Given the description of an element on the screen output the (x, y) to click on. 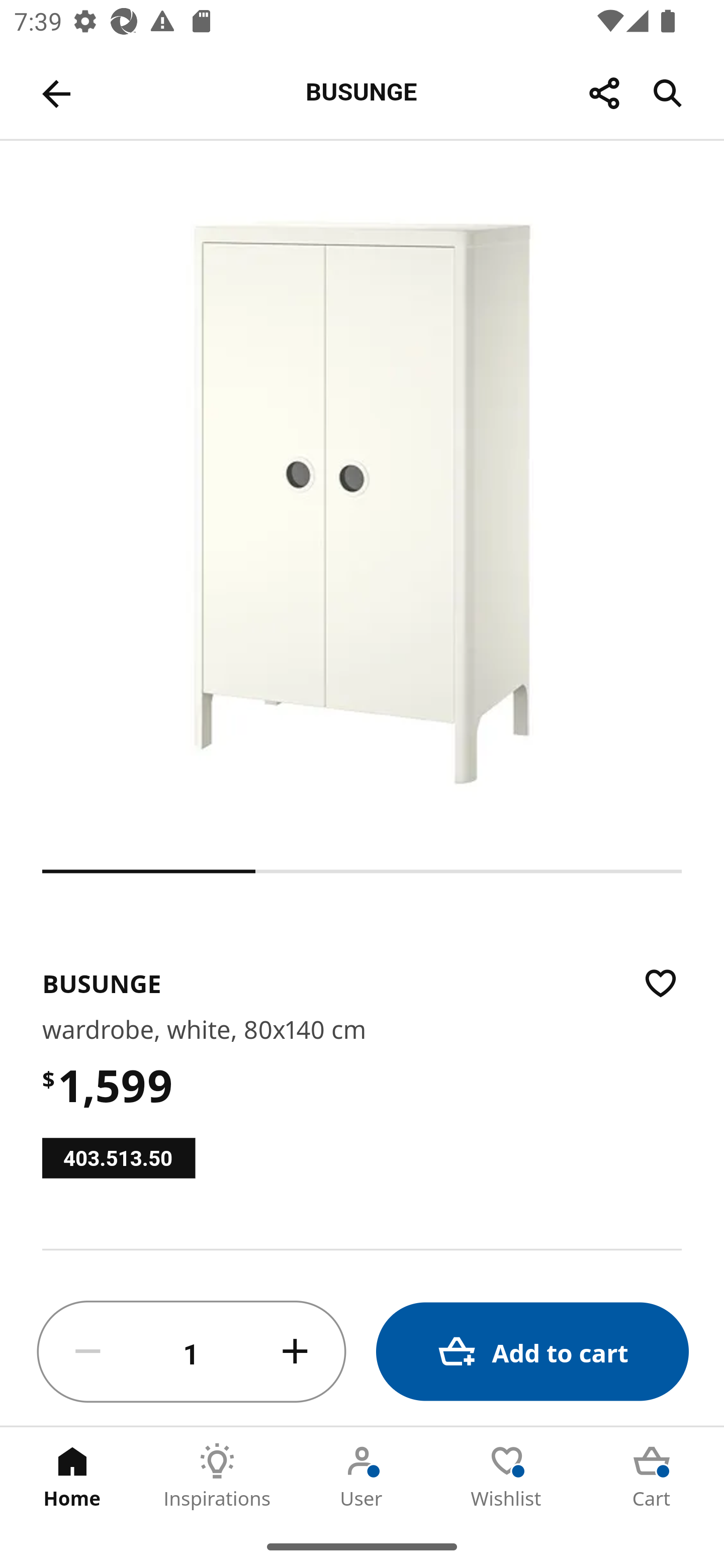
Add to cart (531, 1352)
1 (191, 1352)
Home
Tab 1 of 5 (72, 1476)
Inspirations
Tab 2 of 5 (216, 1476)
User
Tab 3 of 5 (361, 1476)
Wishlist
Tab 4 of 5 (506, 1476)
Cart
Tab 5 of 5 (651, 1476)
